Given the description of an element on the screen output the (x, y) to click on. 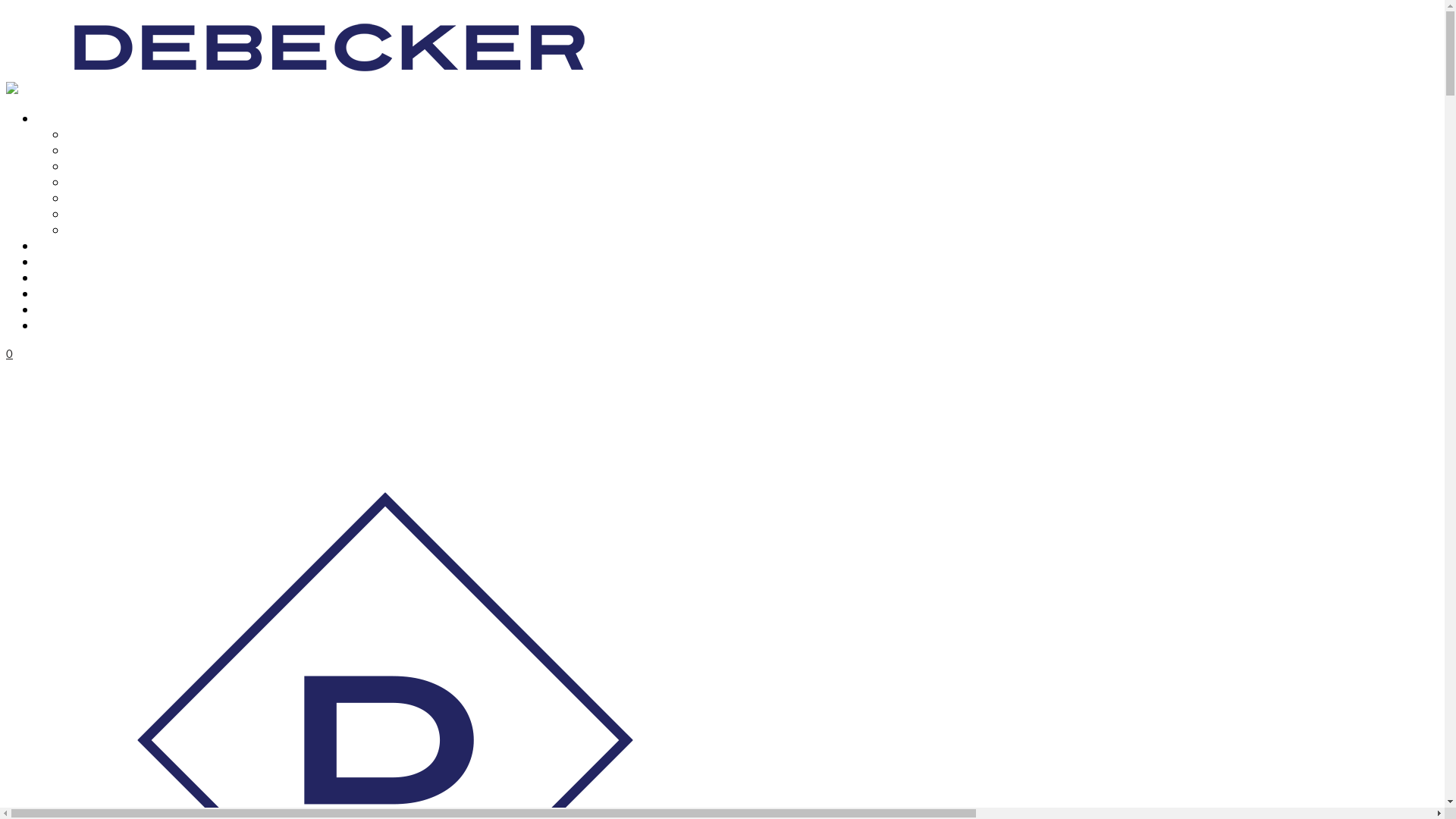
Kollers Element type: text (83, 229)
Contact Element type: text (56, 293)
Nieuw Element type: text (83, 133)
Luxueus Element type: text (87, 213)
Rustiek Element type: text (84, 197)
Modern Element type: text (86, 165)
Keuken Element type: text (55, 245)
English Element type: text (54, 324)
Bar & Lounge Element type: text (72, 261)
0 Element type: text (9, 352)
Over ons Element type: text (58, 277)
Tafelgerei Element type: text (63, 117)
Tijdloos Element type: text (86, 181)
Klassiek Element type: text (86, 149)
Webshop Element type: text (60, 308)
